Given the description of an element on the screen output the (x, y) to click on. 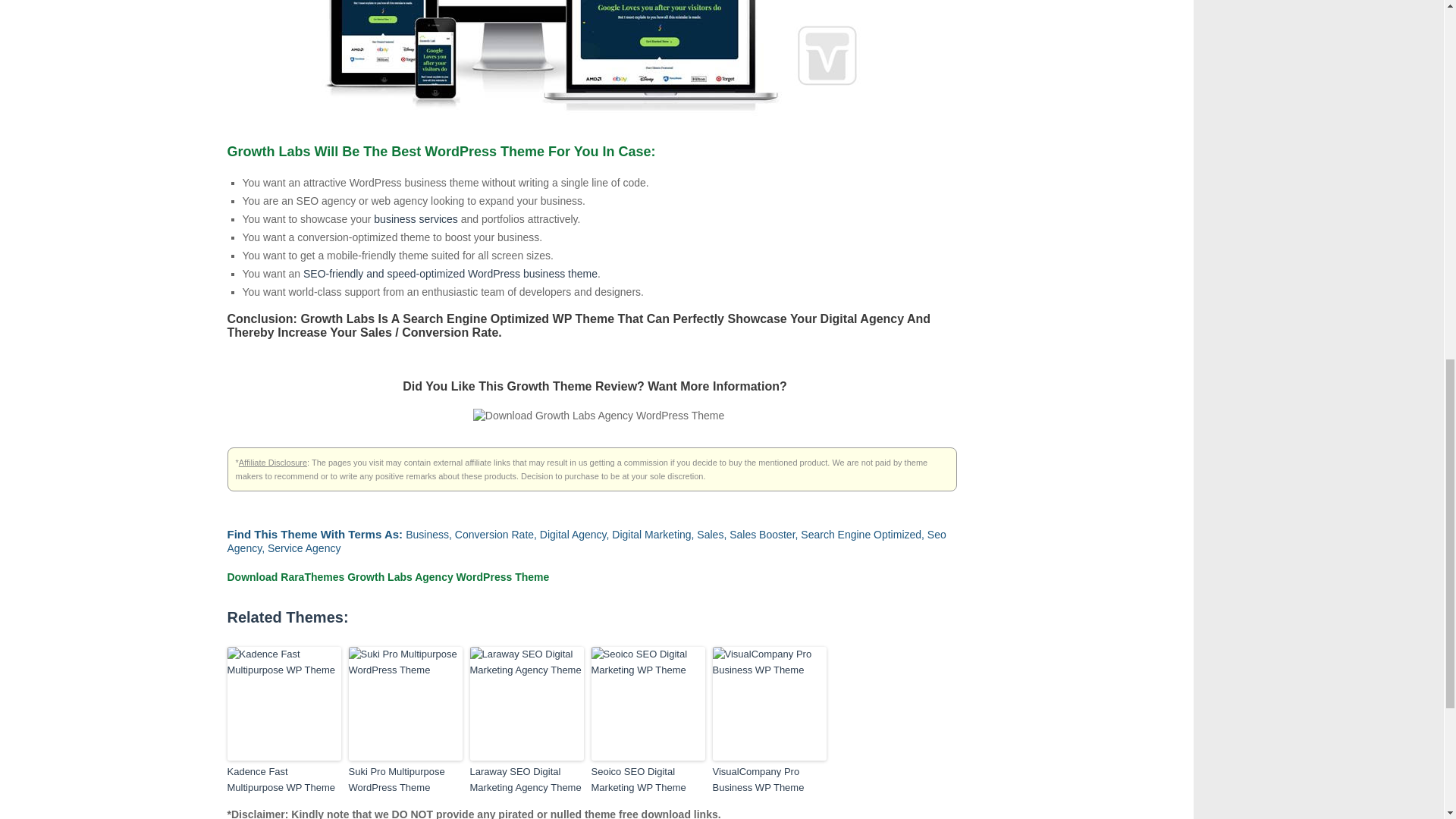
Suki Pro Multipurpose WordPress Theme (406, 780)
Laraway SEO Digital Marketing Agency Theme (526, 780)
Seoico SEO Digital Marketing WP Theme (647, 780)
Download RaraThemes Growth Labs Agency WordPress Theme (388, 576)
business services (416, 218)
Kadence Fast Multipurpose WP Theme (283, 780)
SEO-friendly and speed-optimized WordPress business theme (449, 273)
Click to know more about Growth Labs Agency WordPress Theme (598, 415)
VisualCompany Pro Business WP Theme (770, 780)
